Given the description of an element on the screen output the (x, y) to click on. 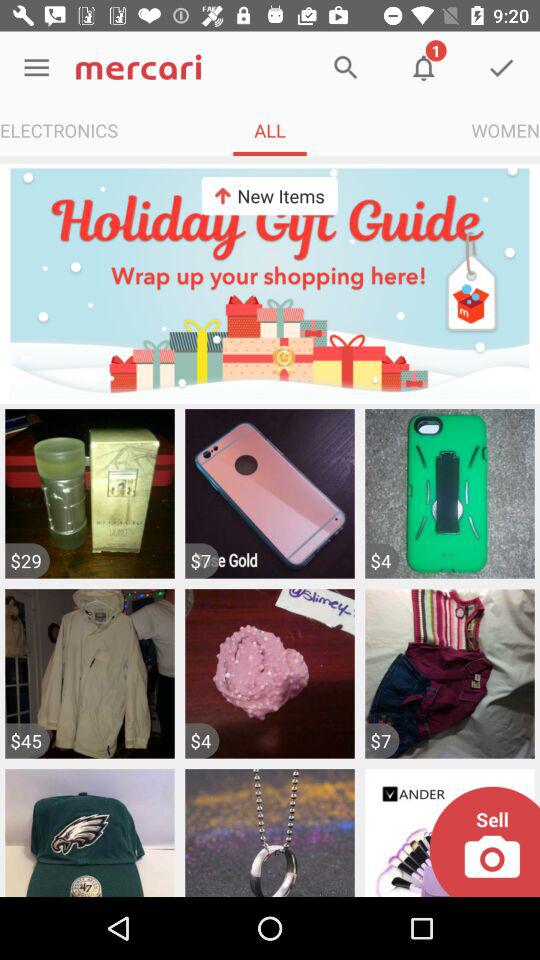
put a product up for sale (484, 841)
